Given the description of an element on the screen output the (x, y) to click on. 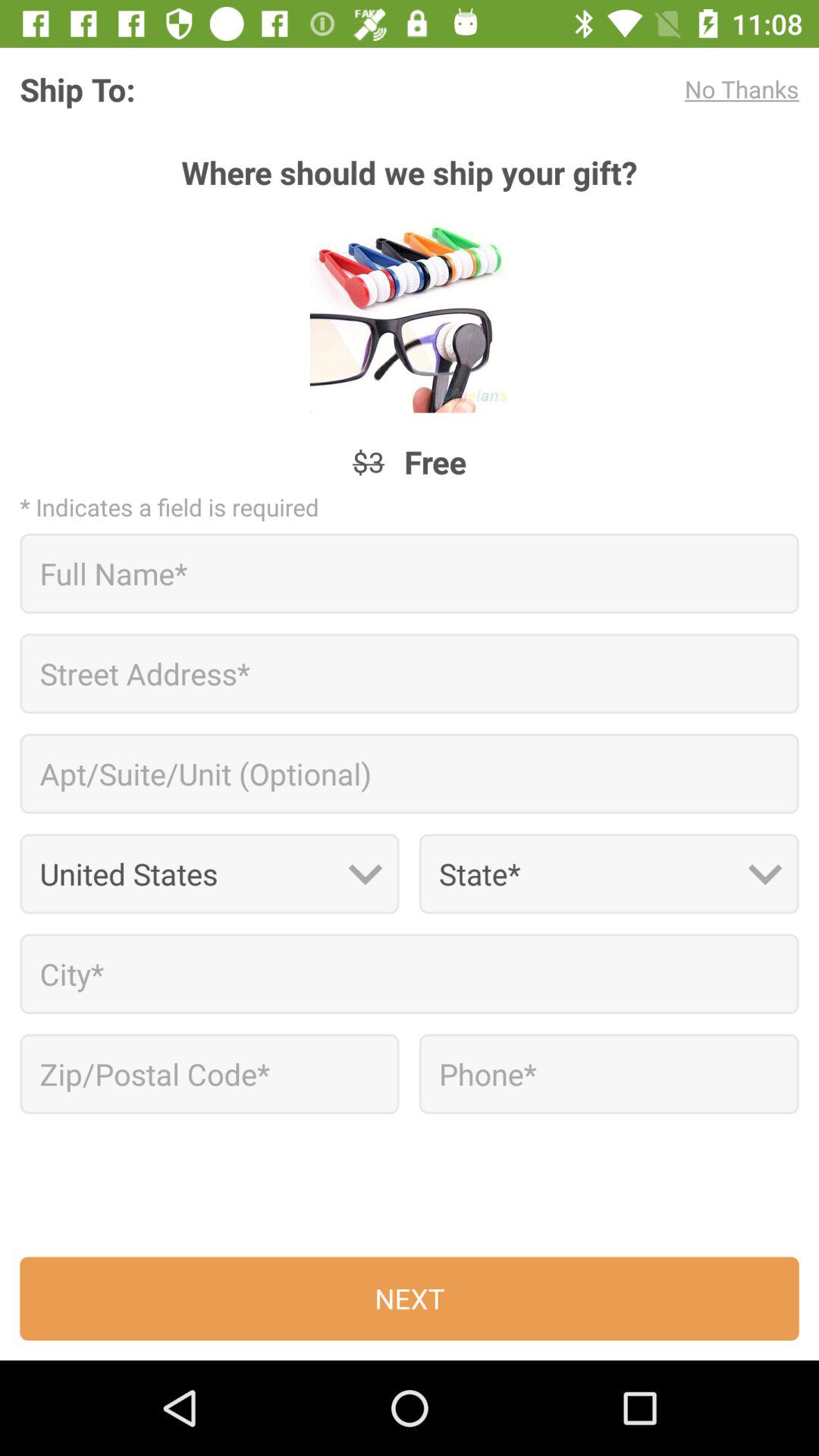
insert city (409, 973)
